Given the description of an element on the screen output the (x, y) to click on. 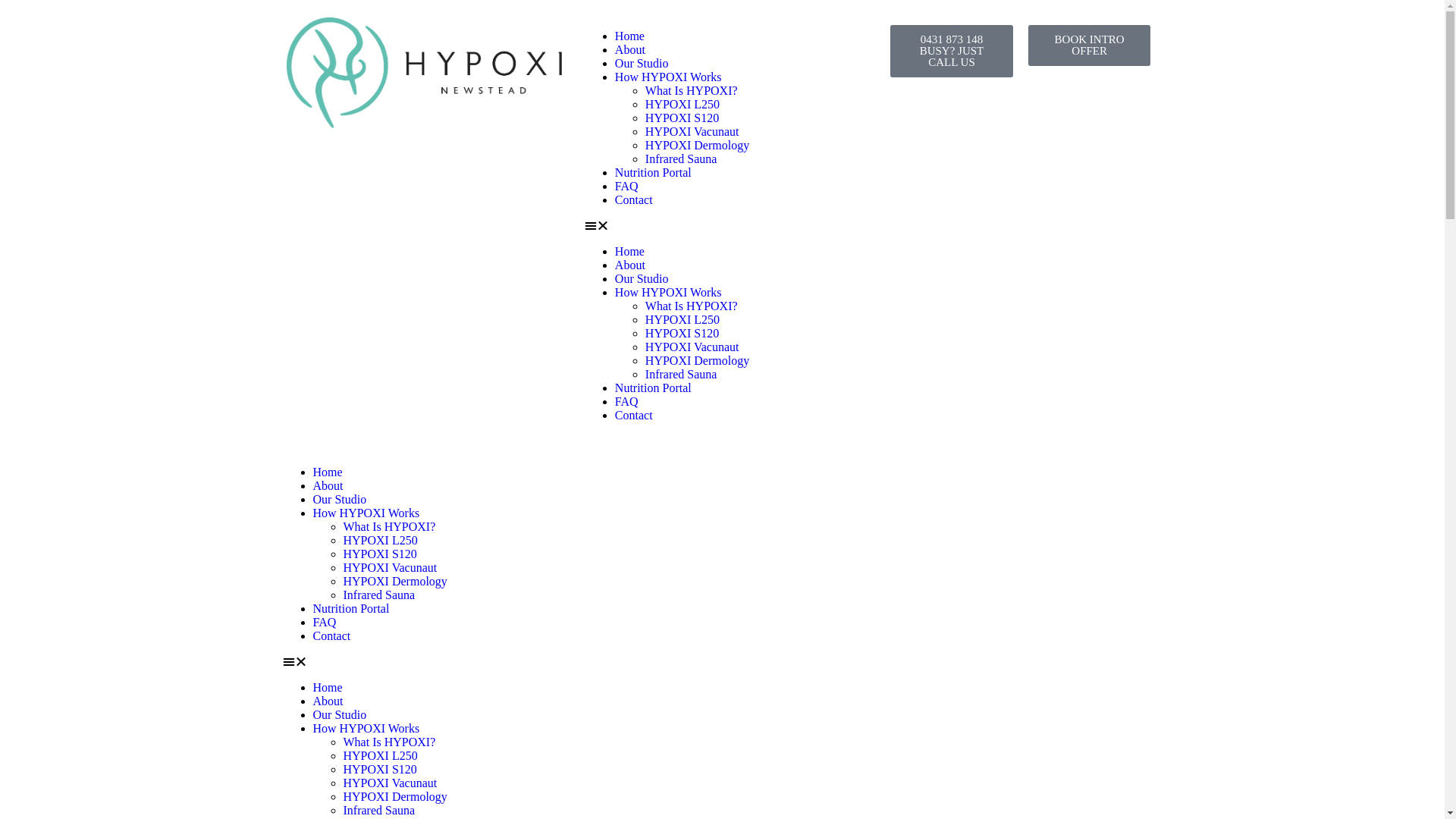
HYPOXI Vacunaut Element type: text (692, 131)
What Is HYPOXI? Element type: text (388, 741)
Home Element type: text (327, 686)
Contact Element type: text (331, 635)
HYPOXI L250 Element type: text (682, 319)
0431 873 148 BUSY? JUST CALL US Element type: text (951, 51)
Contact Element type: text (633, 199)
Infrared Sauna Element type: text (681, 158)
Home Element type: text (327, 471)
FAQ Element type: text (323, 621)
HYPOXI Vacunaut Element type: text (692, 346)
HYPOXI L250 Element type: text (682, 103)
HYPOXI Vacunaut Element type: text (389, 567)
About Element type: text (327, 700)
HYPOXI L250 Element type: text (379, 539)
Infrared Sauna Element type: text (681, 373)
FAQ Element type: text (626, 401)
How HYPOXI Works Element type: text (668, 76)
About Element type: text (327, 485)
Our Studio Element type: text (641, 62)
HYPOXI Vacunaut Element type: text (389, 782)
HYPOXI S120 Element type: text (681, 332)
BOOK INTRO OFFER Element type: text (1089, 45)
How HYPOXI Works Element type: text (365, 727)
HYPOXI Dermology Element type: text (394, 580)
FAQ Element type: text (626, 185)
About Element type: text (630, 49)
HYPOXI Dermology Element type: text (697, 360)
HYPOXI Dermology Element type: text (697, 144)
Nutrition Portal Element type: text (653, 172)
HYPOXI L250 Element type: text (379, 755)
What Is HYPOXI? Element type: text (388, 526)
HYPOXI S120 Element type: text (379, 768)
What Is HYPOXI? Element type: text (691, 90)
Home Element type: text (629, 35)
Infrared Sauna Element type: text (378, 809)
Our Studio Element type: text (339, 714)
Our Studio Element type: text (641, 278)
HYPOXI S120 Element type: text (379, 553)
Our Studio Element type: text (339, 498)
About Element type: text (630, 264)
How HYPOXI Works Element type: text (365, 512)
HYPOXI Dermology Element type: text (394, 796)
What Is HYPOXI? Element type: text (691, 305)
HYPOXI S120 Element type: text (681, 117)
Home Element type: text (629, 250)
How HYPOXI Works Element type: text (668, 291)
Nutrition Portal Element type: text (653, 387)
Contact Element type: text (633, 414)
Infrared Sauna Element type: text (378, 594)
Nutrition Portal Element type: text (350, 608)
